Given the description of an element on the screen output the (x, y) to click on. 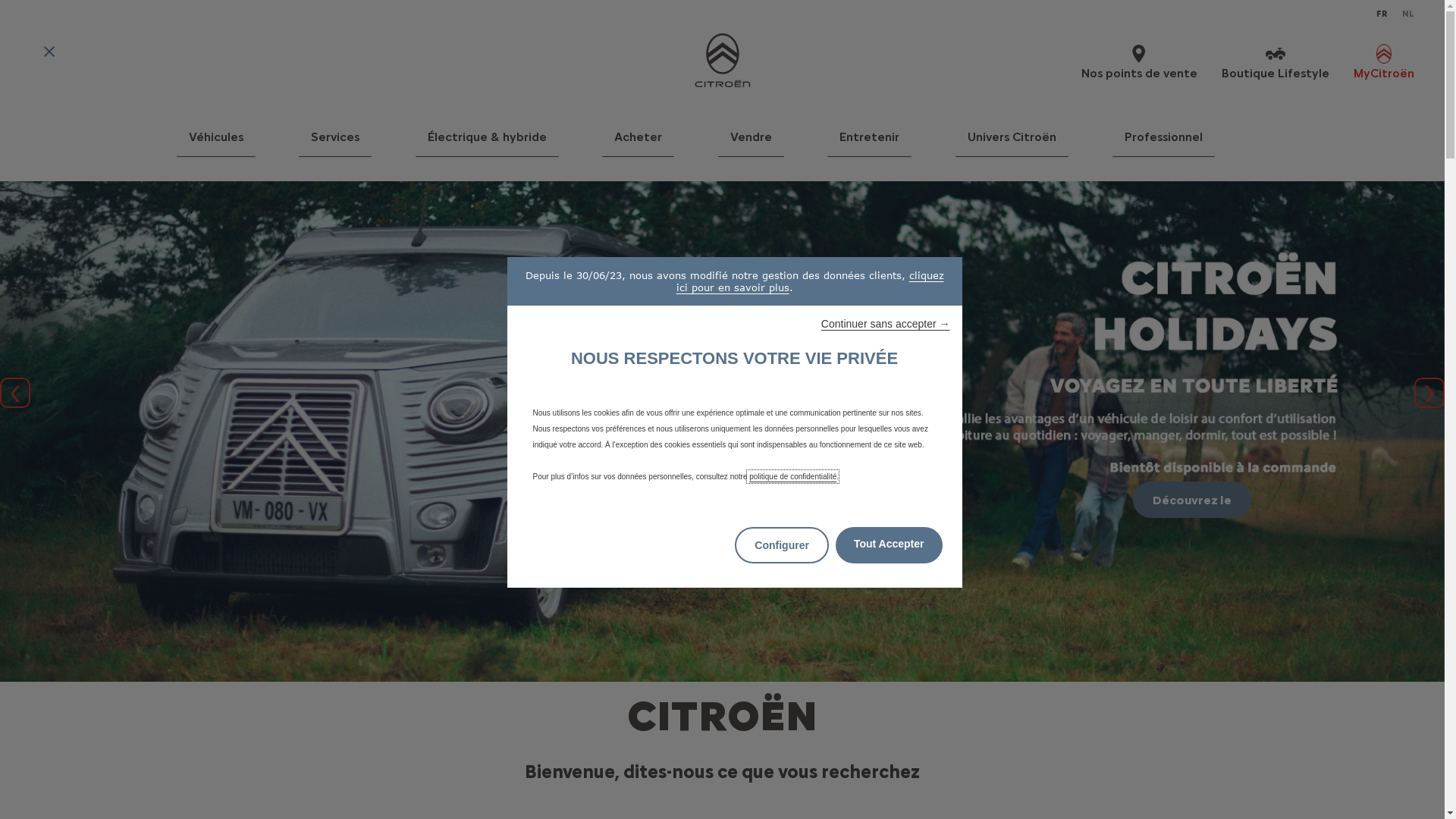
Tout Accepter Element type: text (888, 545)
Acheter Element type: text (638, 142)
Services Element type: text (334, 142)
Entretenir Element type: text (869, 142)
Home Element type: hover (721, 61)
NL Element type: text (1408, 13)
Configurer Element type: text (781, 545)
Nos points de vente Element type: text (1139, 60)
Vendre Element type: text (751, 142)
Suivant Element type: text (1429, 392)
cliquez ici pour en savoir plus Element type: text (810, 281)
Professionnel Element type: text (1163, 142)
Boutique Lifestyle Element type: text (1275, 60)
FR Element type: text (1381, 13)
